Given the description of an element on the screen output the (x, y) to click on. 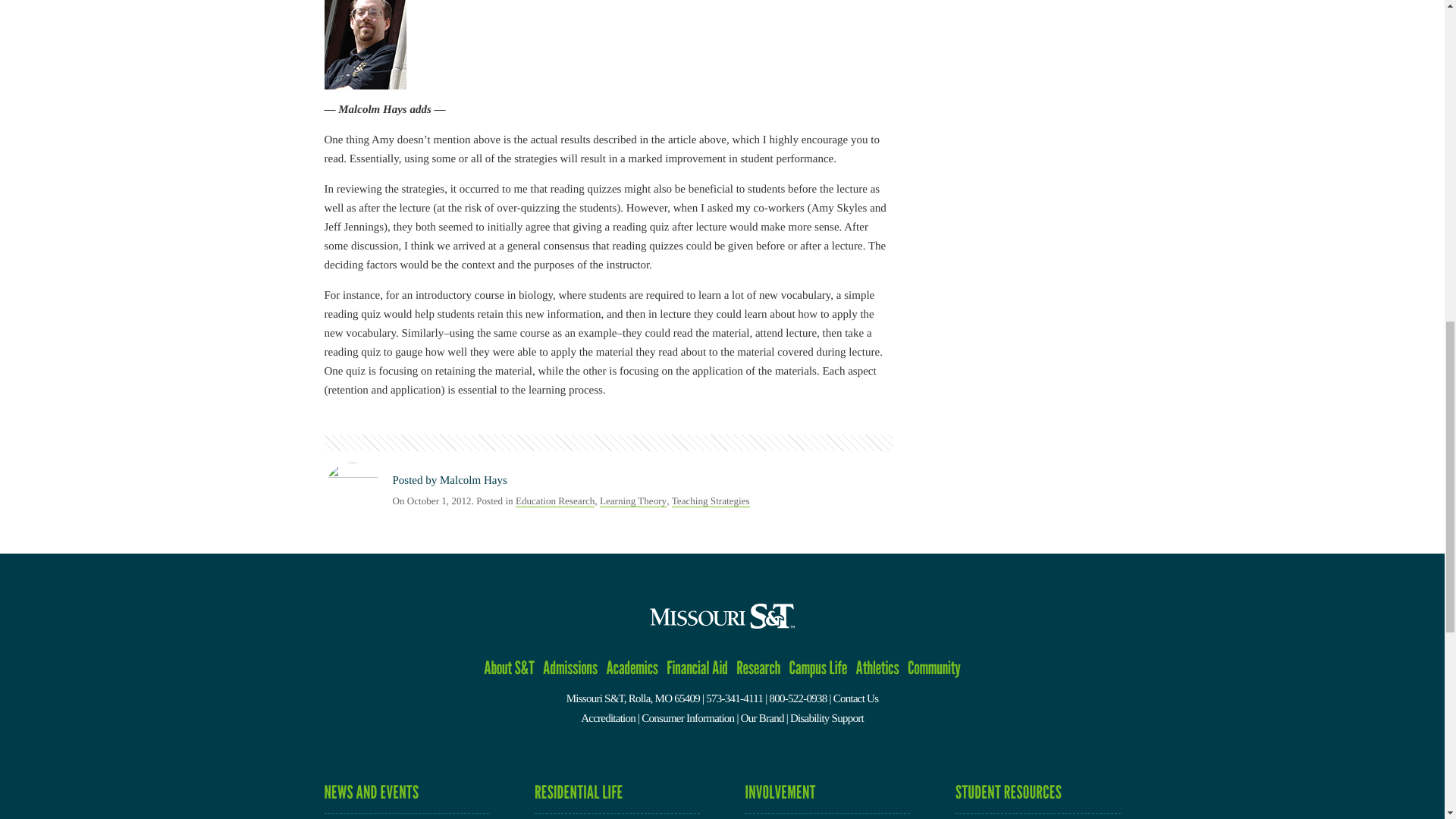
Learning Theory (632, 500)
Malcolm Hays (472, 480)
Teaching Strategies (710, 500)
Posts by Malcolm Hays (472, 480)
Education Research (554, 500)
